Given the description of an element on the screen output the (x, y) to click on. 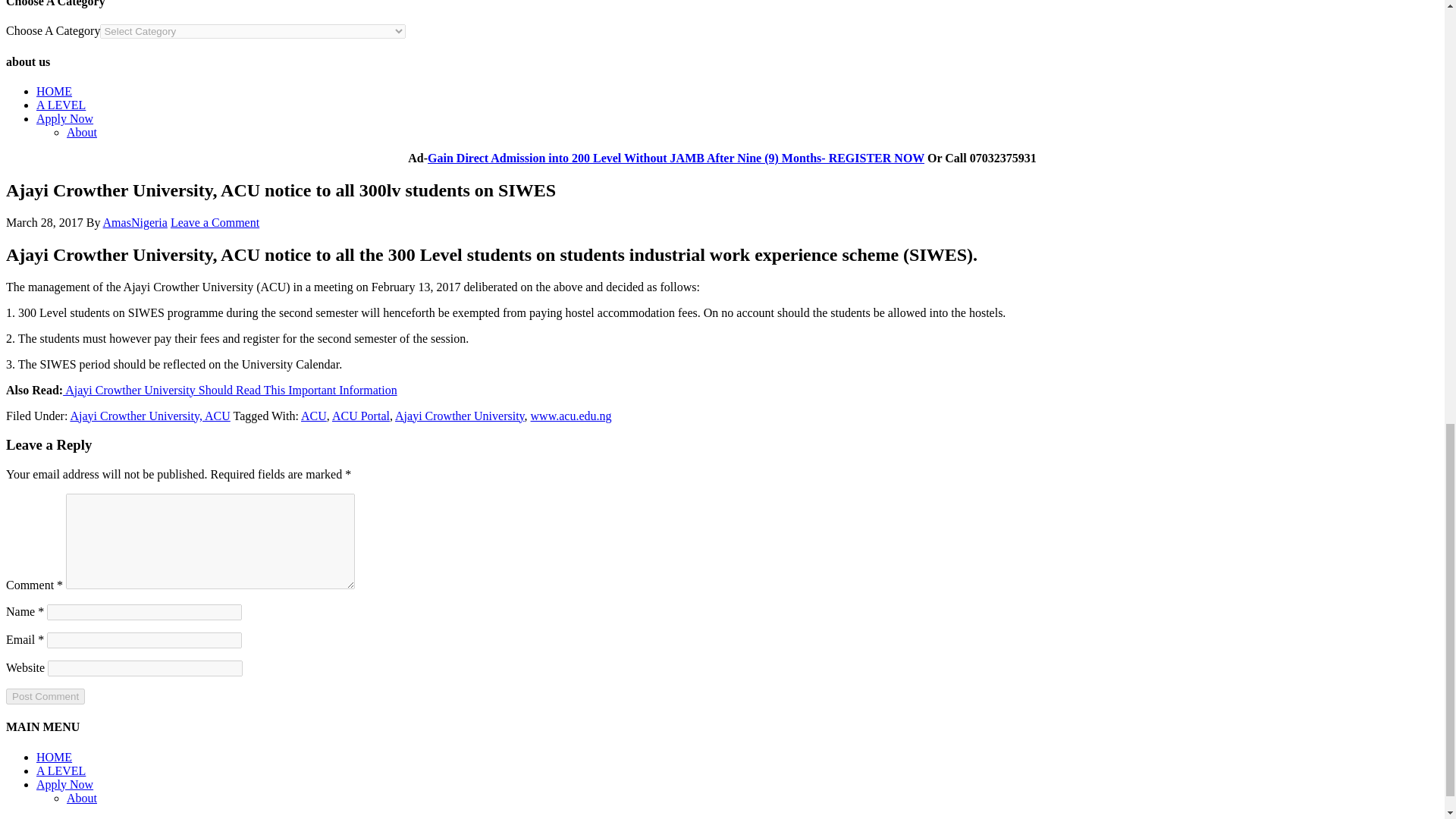
A LEVEL (60, 104)
Post Comment (44, 696)
Apply Now (64, 118)
Ajayi Crowther University, ACU (149, 415)
ACU Portal (360, 415)
ACU (313, 415)
HOME (53, 91)
AmasNigeria (135, 222)
Leave a Comment (214, 222)
About (81, 132)
